Given the description of an element on the screen output the (x, y) to click on. 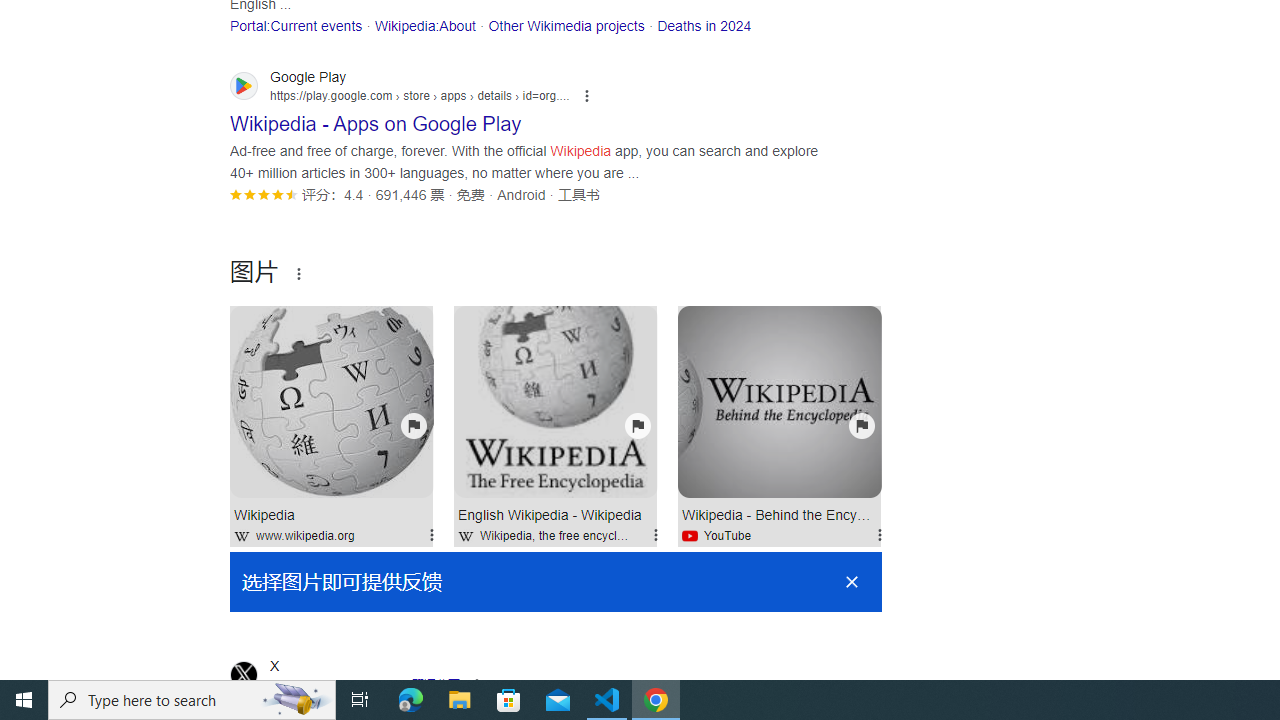
Wikipedia:About (424, 25)
Deaths in 2024 (704, 25)
Other Wikimedia projects (566, 25)
Portal:Current events (296, 25)
